Given the description of an element on the screen output the (x, y) to click on. 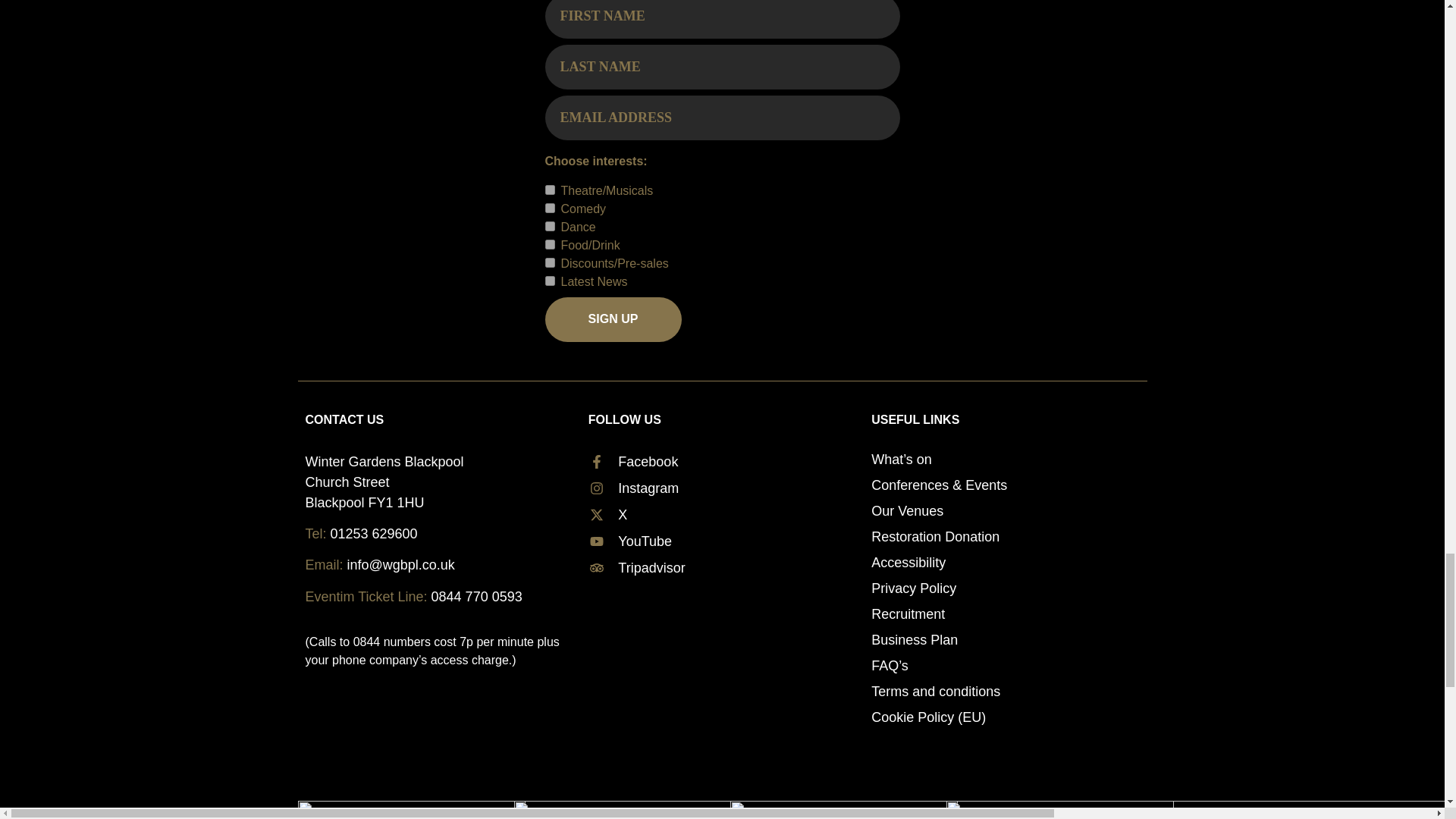
foodDrink (549, 244)
comedy (549, 207)
discountPresales (549, 262)
theatreMusicals (549, 189)
latestNews (549, 280)
dance (549, 225)
